Given the description of an element on the screen output the (x, y) to click on. 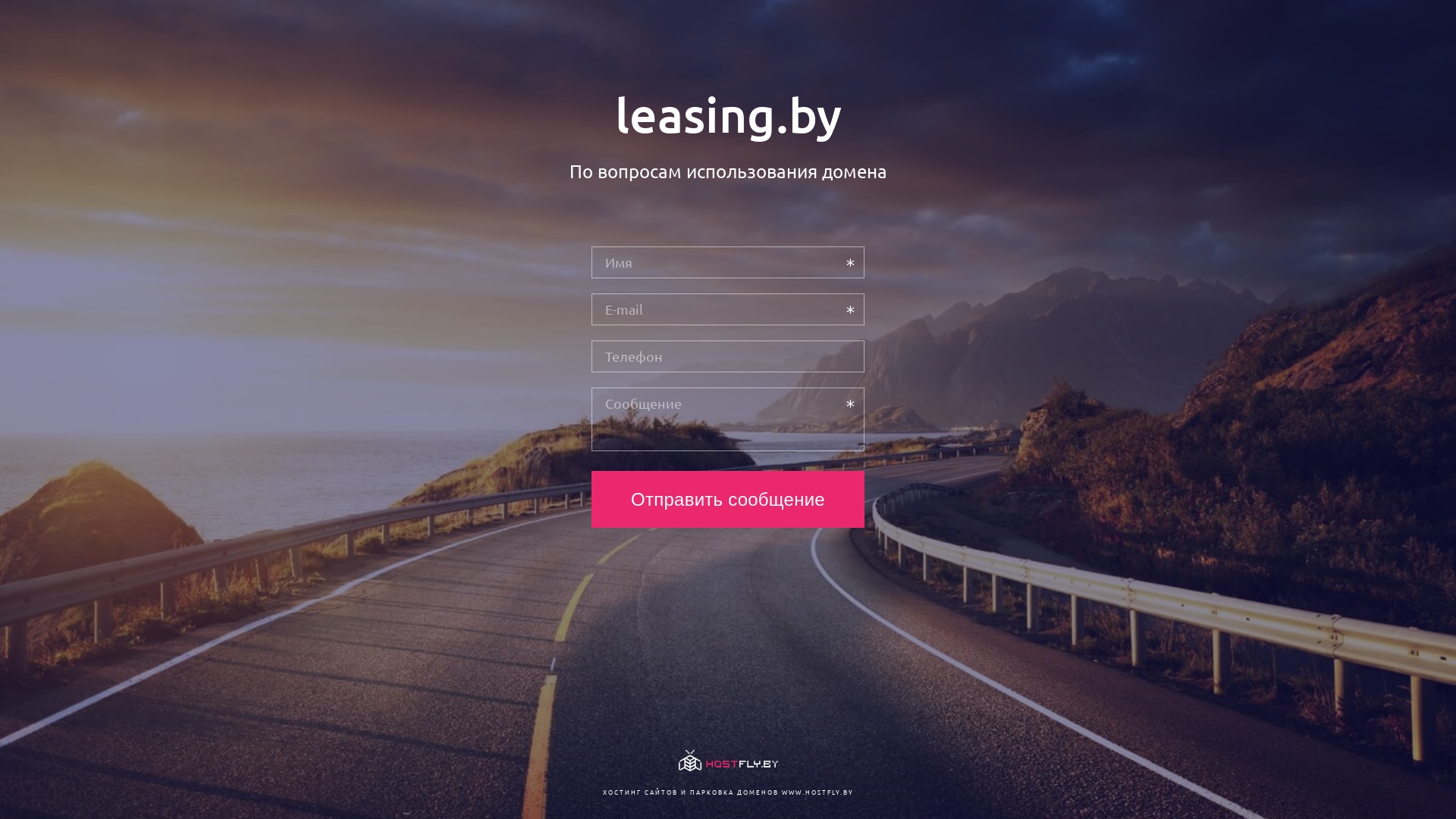
WWW.HOSTFLY.BY Element type: text (817, 791)
